Given the description of an element on the screen output the (x, y) to click on. 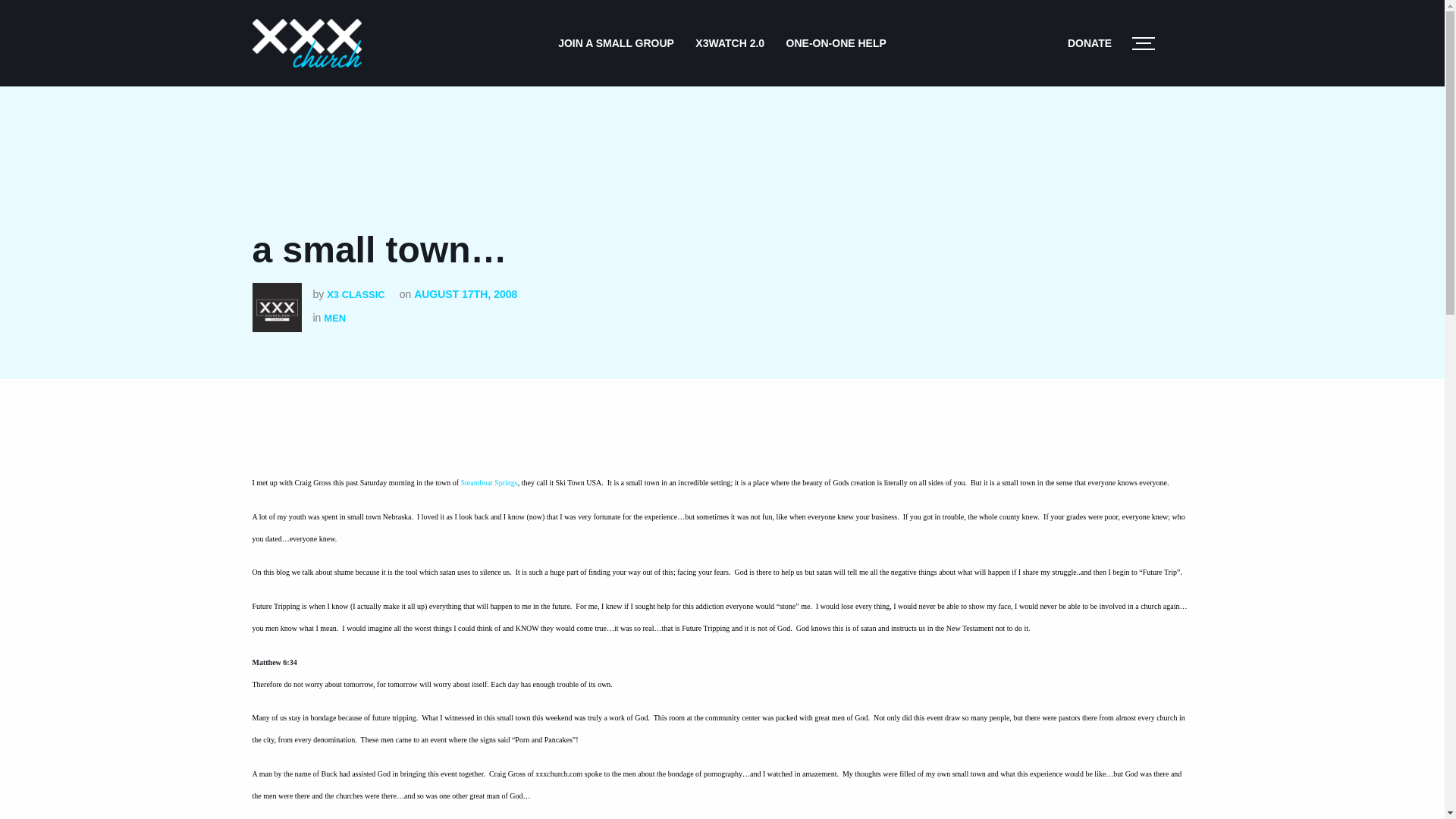
X3WATCH 2.0 (729, 43)
DONATE (1089, 43)
JOIN A SMALL GROUP (615, 43)
ONE-ON-ONE HELP (836, 43)
